Given the description of an element on the screen output the (x, y) to click on. 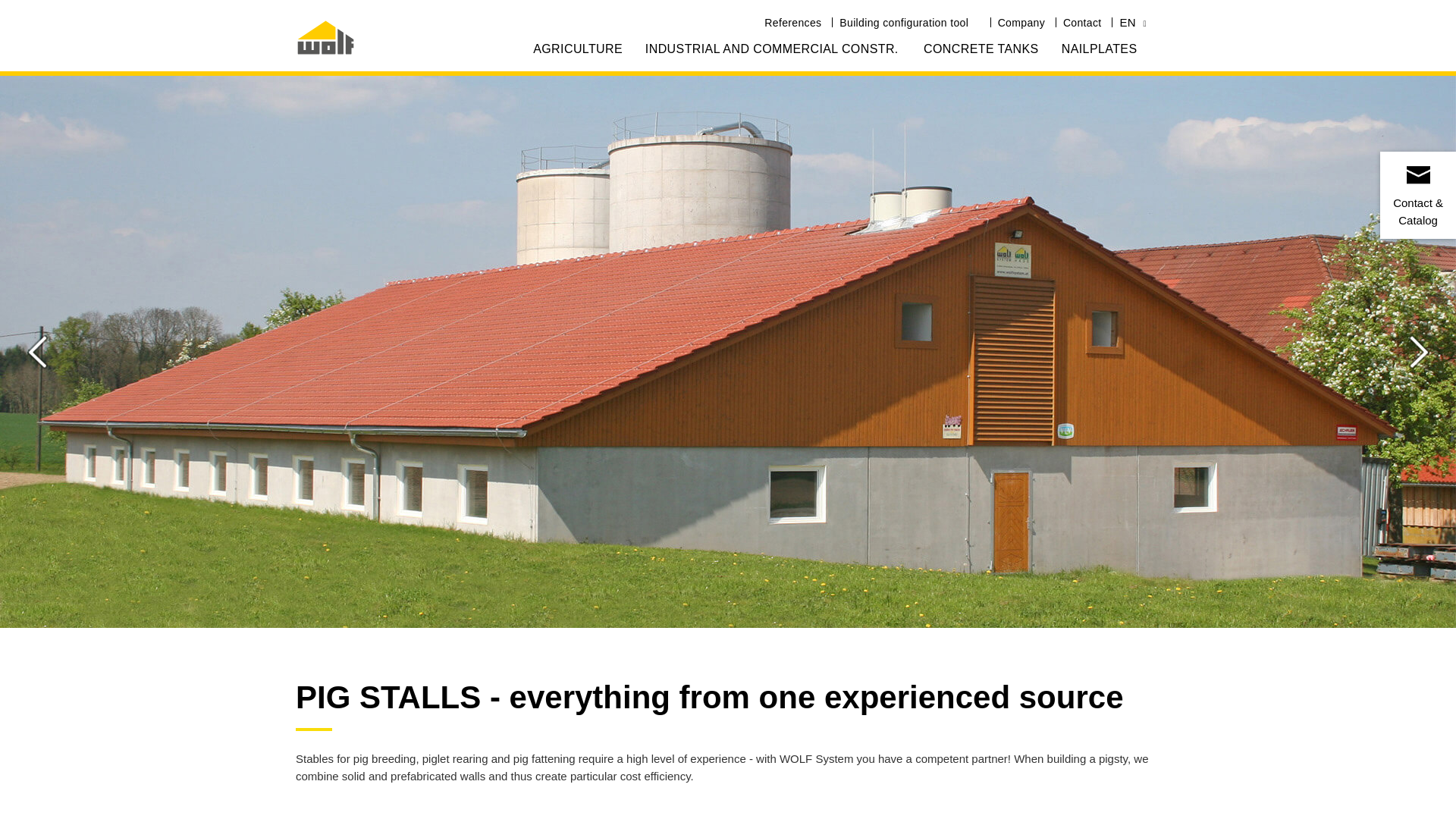
EN (1131, 17)
Agriculture (578, 48)
Concrete tanks (982, 48)
Building configuration tool (910, 17)
References (794, 17)
Nailplates (1100, 48)
Contact (1083, 17)
AGRICULTURE (578, 48)
References (794, 17)
Company (1022, 17)
Company (1022, 17)
Contact (1083, 17)
Building configuration tool (910, 17)
Industrial and commercial constr. (773, 48)
